Given the description of an element on the screen output the (x, y) to click on. 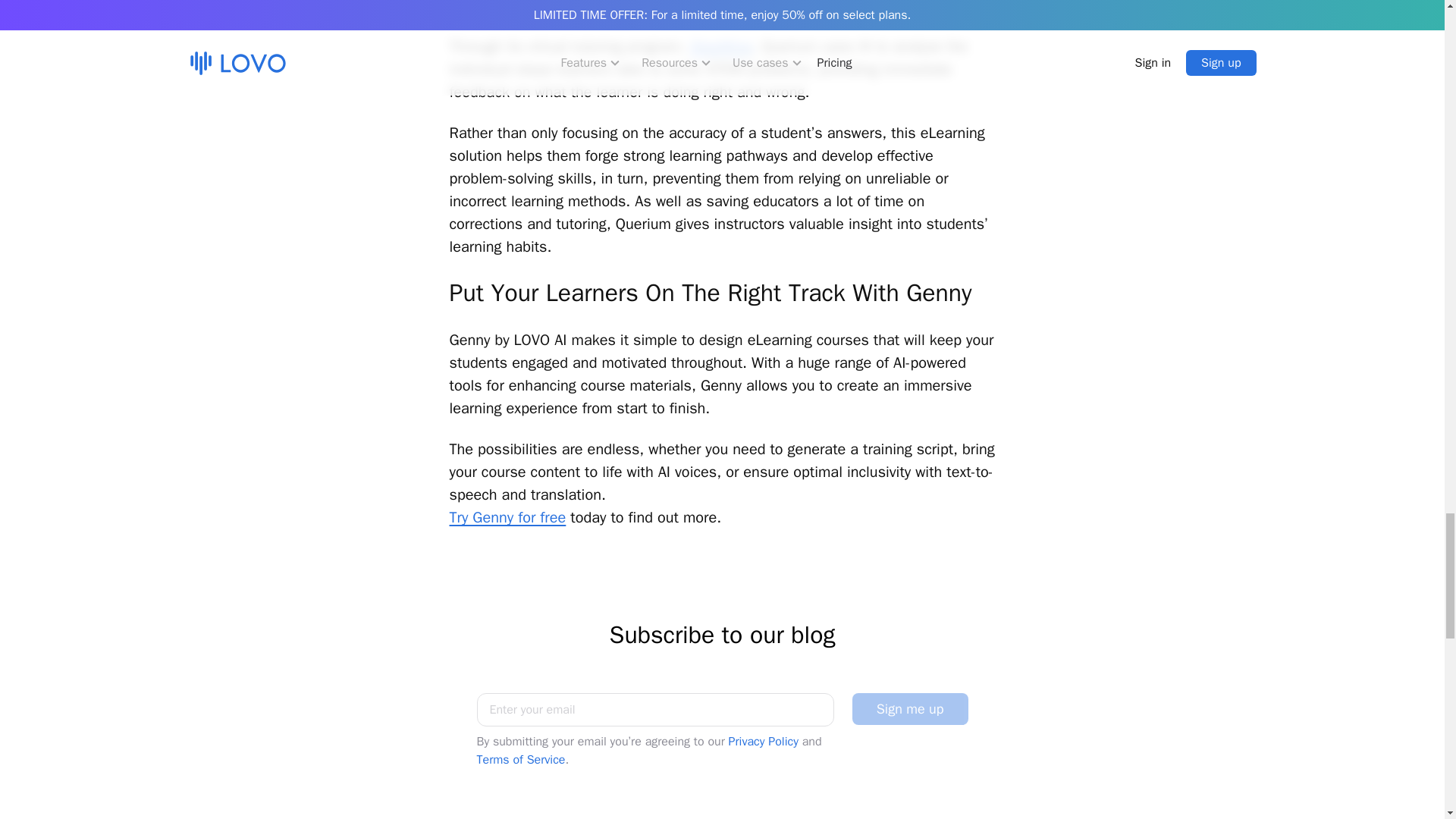
Terms of Service (520, 759)
Querium (512, 7)
StepWise (721, 46)
Privacy Policy (763, 741)
Sign me up (909, 708)
Try Genny for free (507, 517)
